Given the description of an element on the screen output the (x, y) to click on. 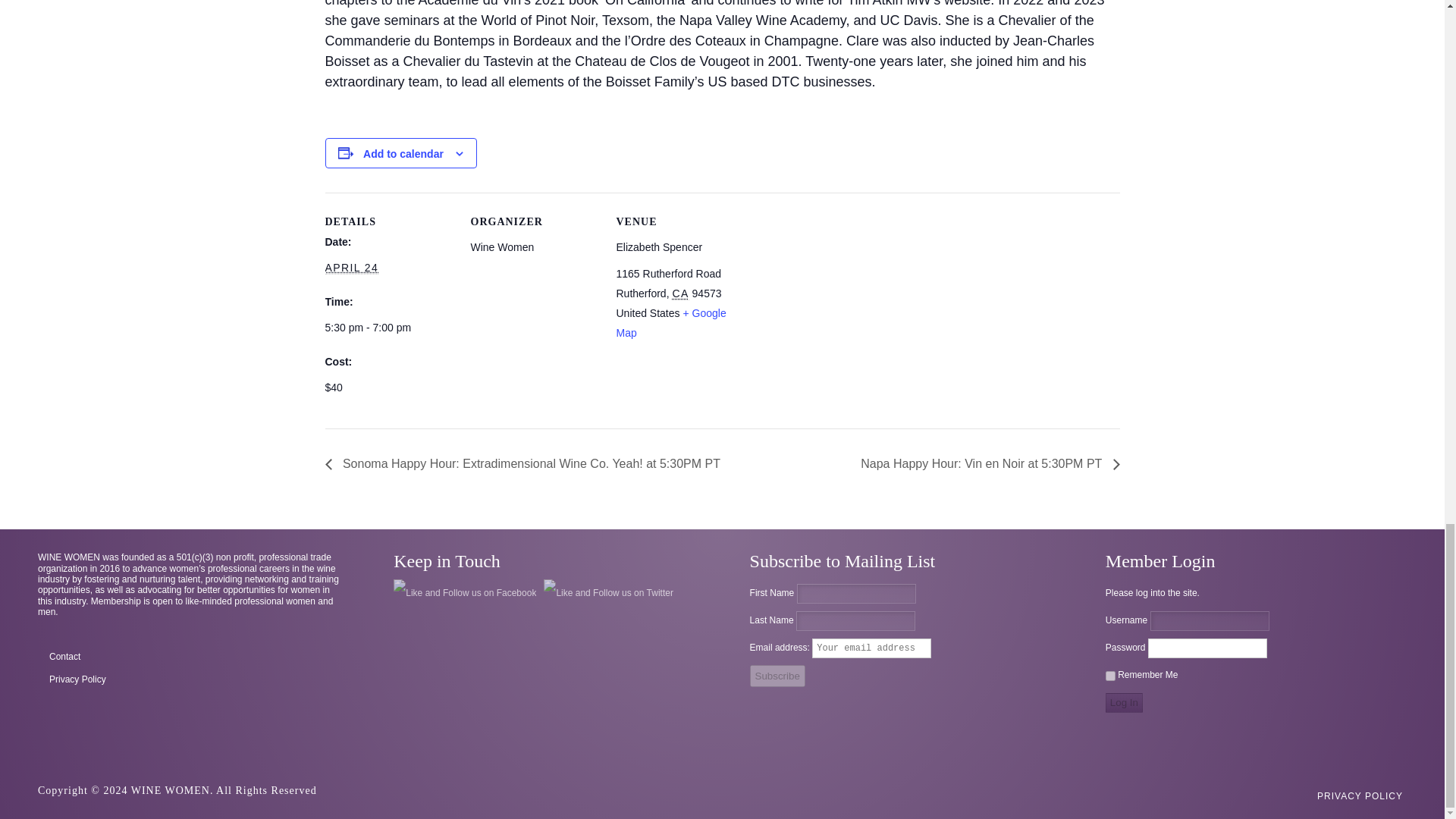
Add to calendar (403, 153)
Napa Happy Hour: Vin en Noir at 5:30PM PT (985, 463)
Log In (1123, 701)
California (679, 293)
Privacy Policy (188, 679)
Click to view a Google Map (670, 323)
Like and Follow us on Facebook (464, 592)
Subscribe (777, 676)
Log In (1123, 701)
2024-04-24 (387, 327)
Like and Follow us on Twitter (607, 592)
Subscribe (777, 676)
PRIVACY POLICY (1359, 795)
